Given the description of an element on the screen output the (x, y) to click on. 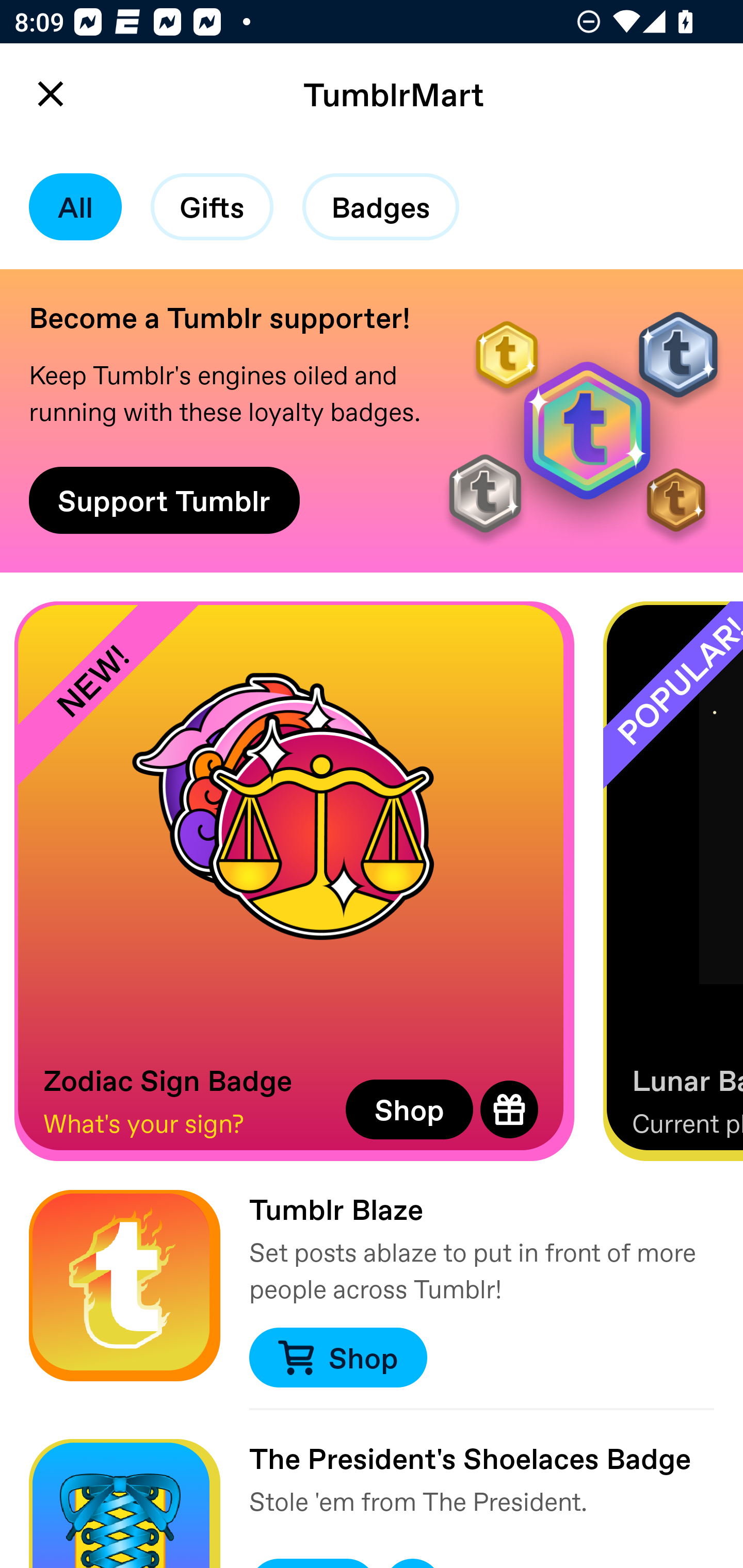
All (74, 206)
Gifts (211, 206)
Badges (380, 206)
Support Tumblr (163, 500)
NEW! Zodiac Sign Badge What's your sign? Shop (294, 881)
Shop (409, 1108)
Shop (337, 1357)
